Given the description of an element on the screen output the (x, y) to click on. 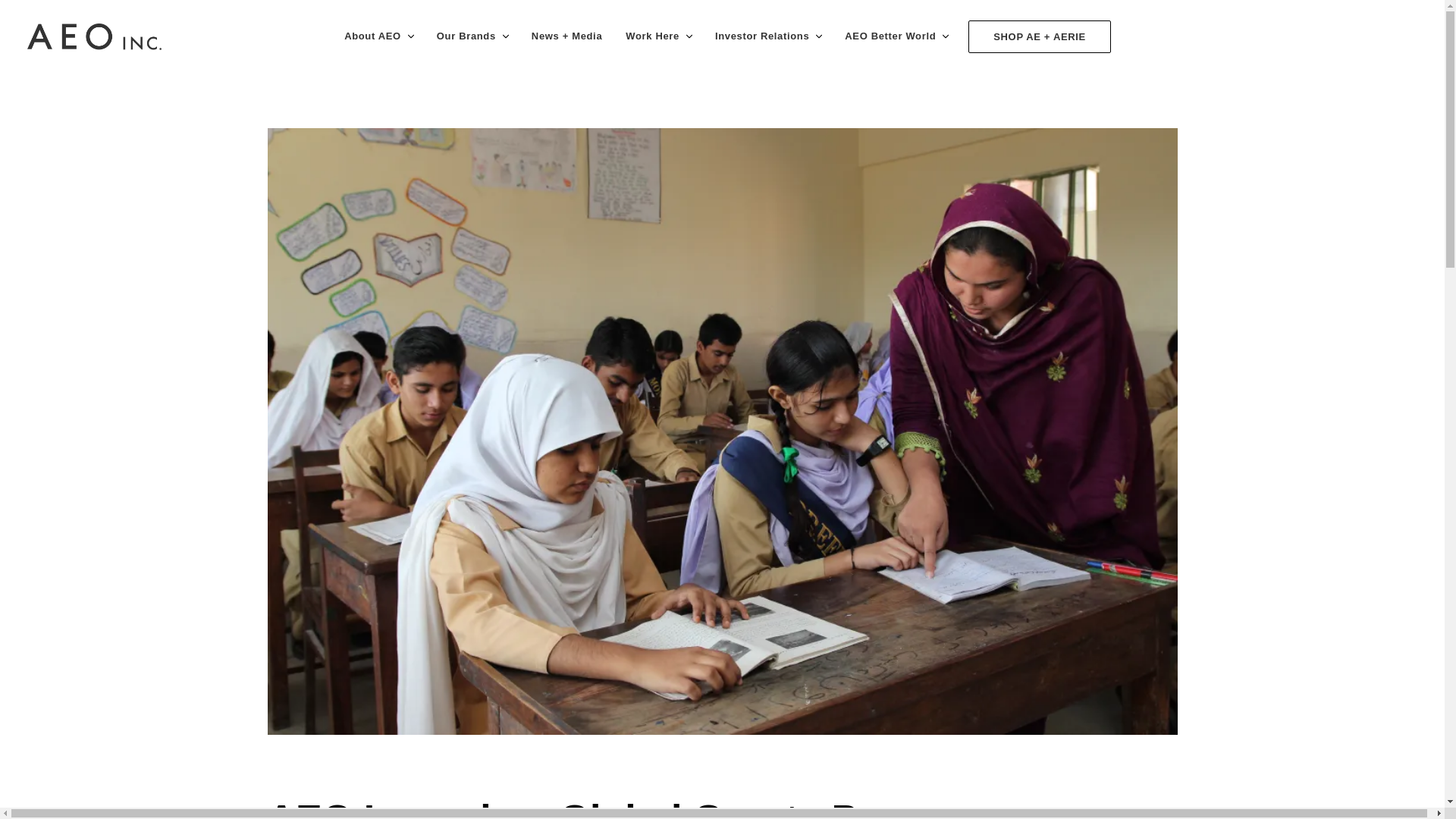
Our Brands (464, 35)
Investor Relations (759, 35)
AEO Better World (888, 35)
Work Here (649, 35)
About AEO (370, 35)
